Given the description of an element on the screen output the (x, y) to click on. 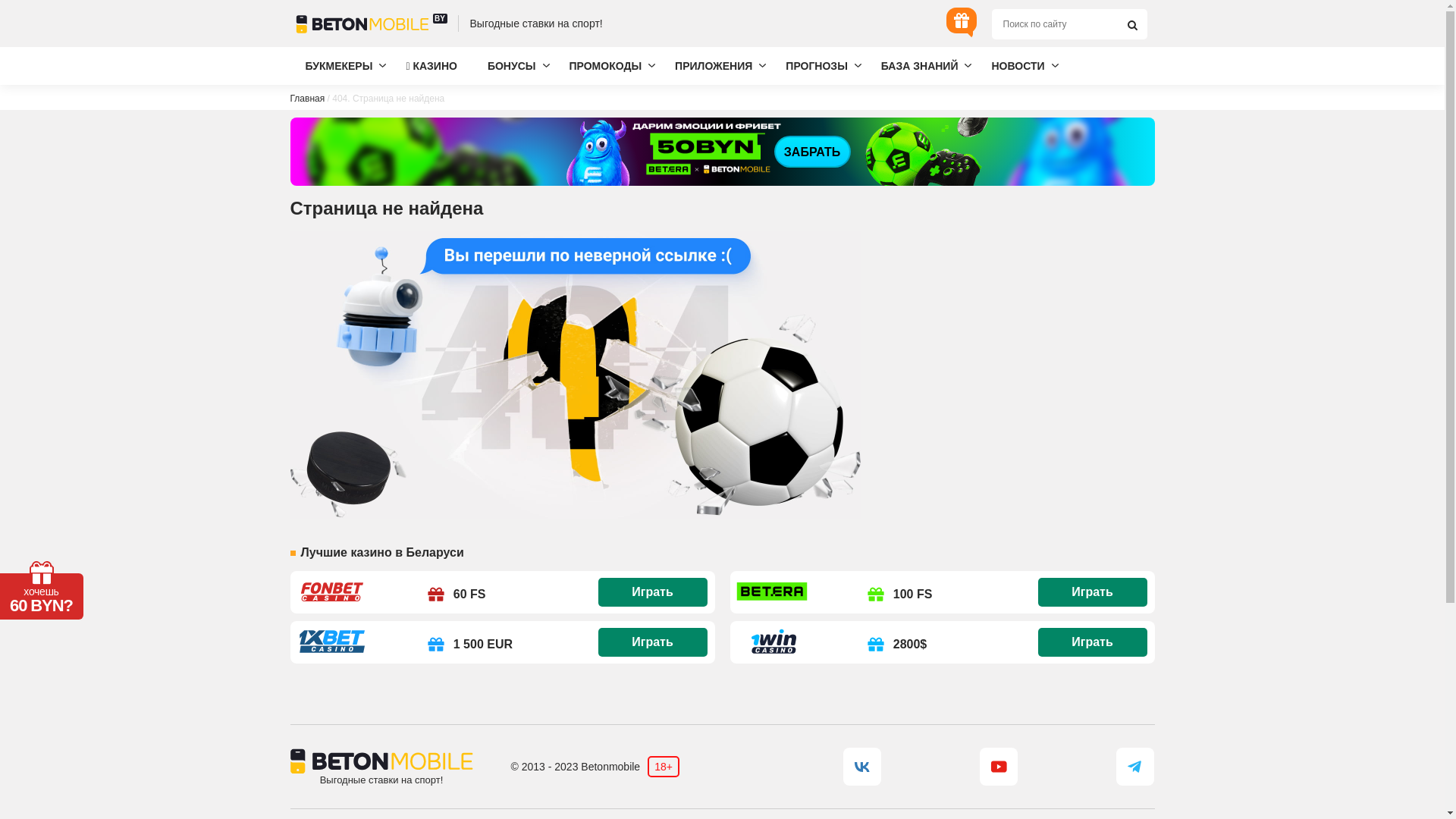
2800$ Element type: text (894, 643)
60 FS Element type: text (453, 593)
100 FS Element type: text (896, 593)
1 500 EUR Element type: text (467, 643)
